Given the description of an element on the screen output the (x, y) to click on. 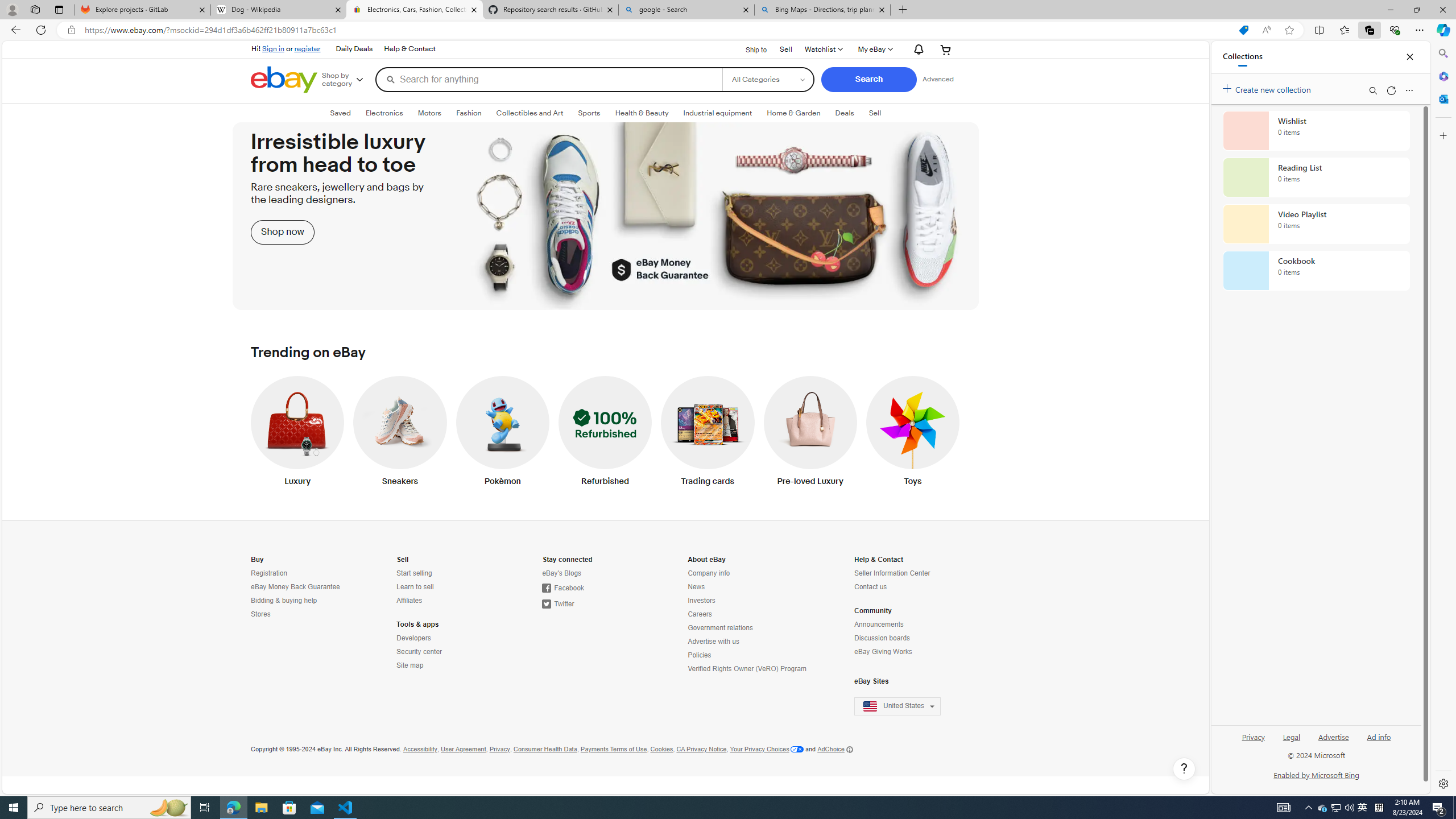
Government relations (719, 628)
United States (904, 705)
Affiliates (446, 600)
Help & Contact (409, 49)
eBay Home (283, 79)
Collectibles and ArtExpand: Collectibles and Art (529, 112)
Shop by category (346, 79)
AutomationID: gh-eb-Alerts (917, 49)
eBay's Blogs (561, 573)
eBay Home (283, 79)
Toys (912, 433)
Start selling (446, 573)
